Given the description of an element on the screen output the (x, y) to click on. 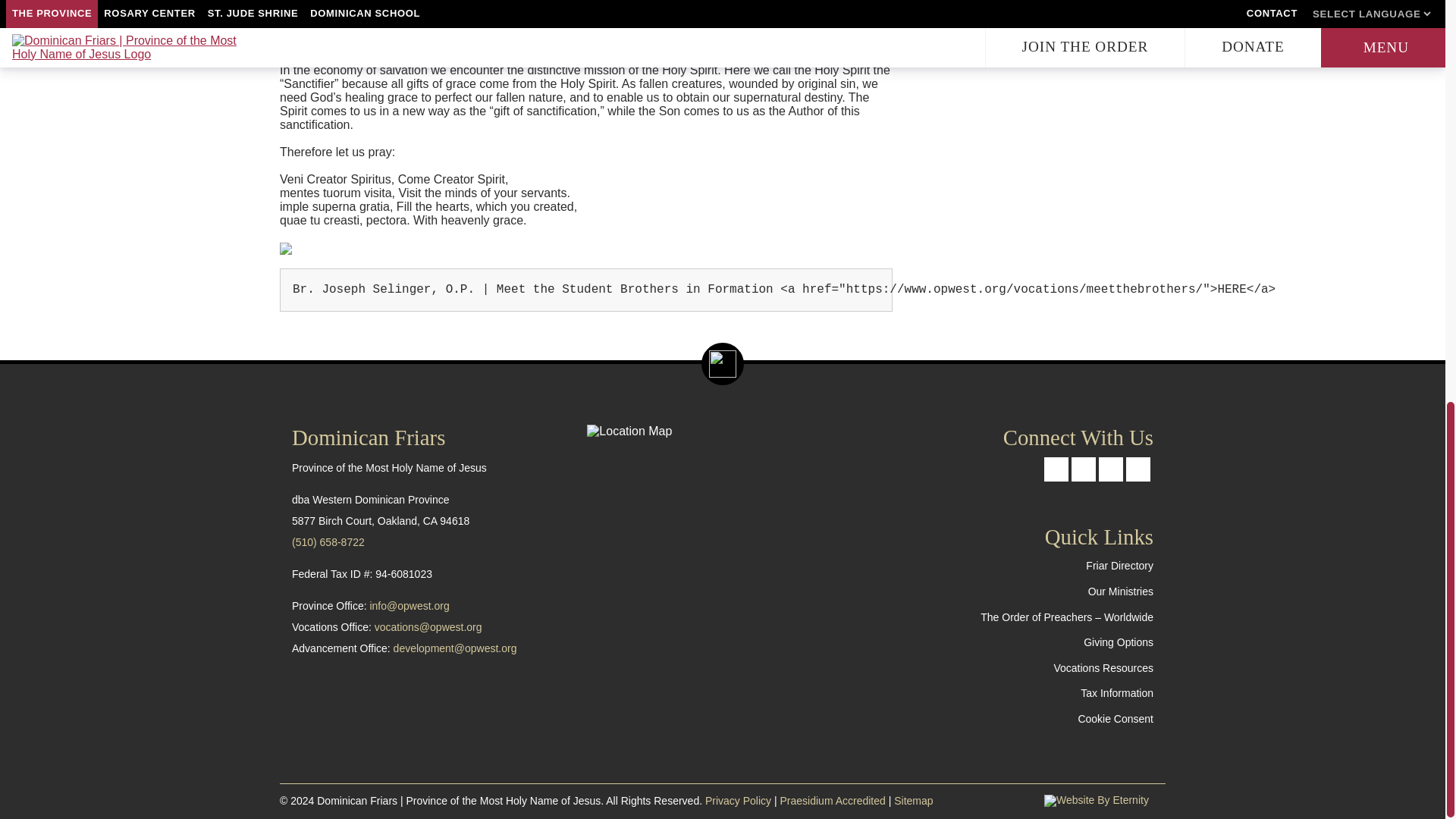
Watch us on YouTube (1137, 469)
Follow us on Twitter (1083, 469)
Find us on Facebook (1055, 469)
Follow us on Instagram (1110, 469)
